Given the description of an element on the screen output the (x, y) to click on. 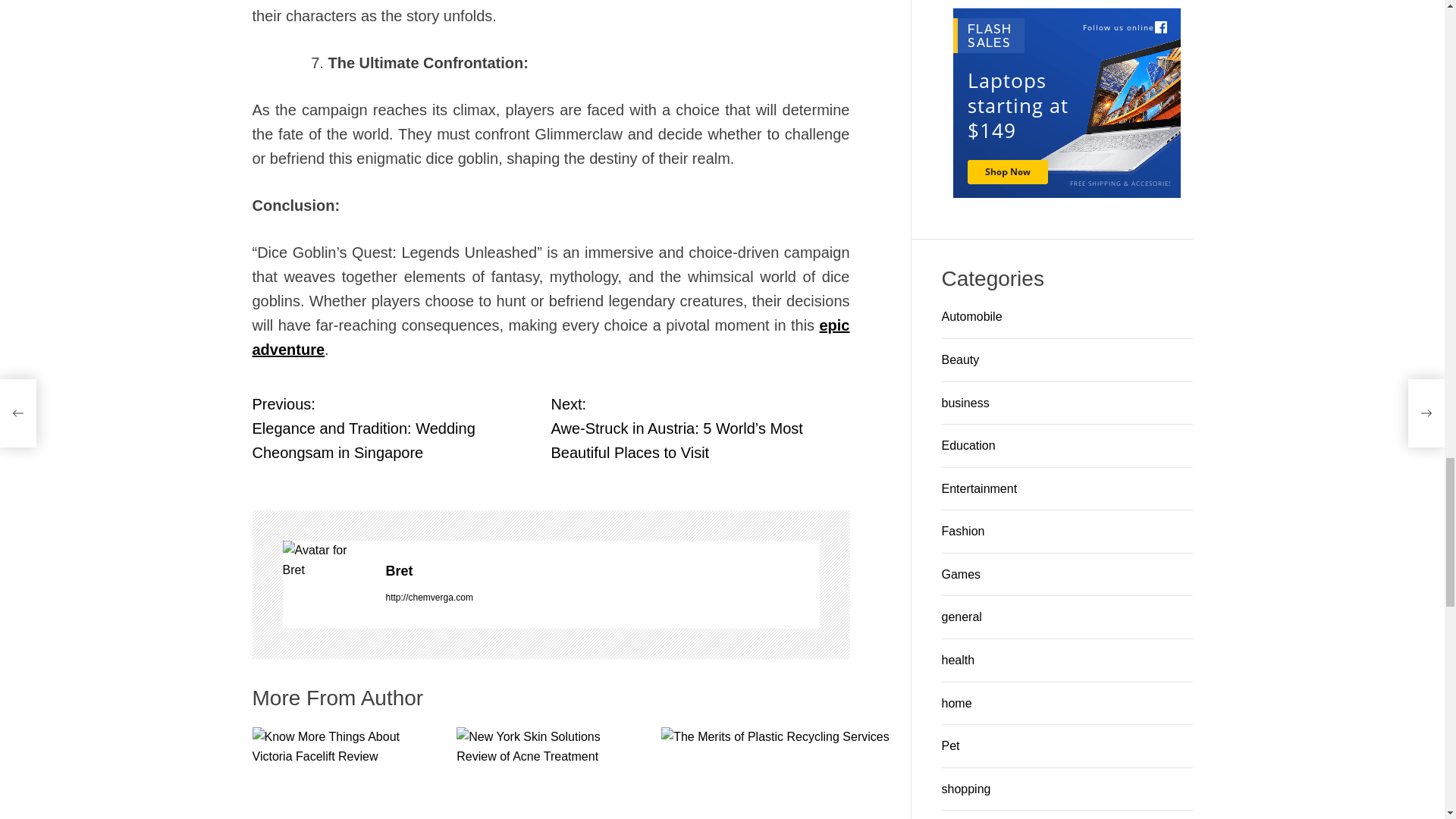
Bret (601, 571)
Bret (601, 571)
epic adventure (549, 336)
Bret (325, 559)
